Given the description of an element on the screen output the (x, y) to click on. 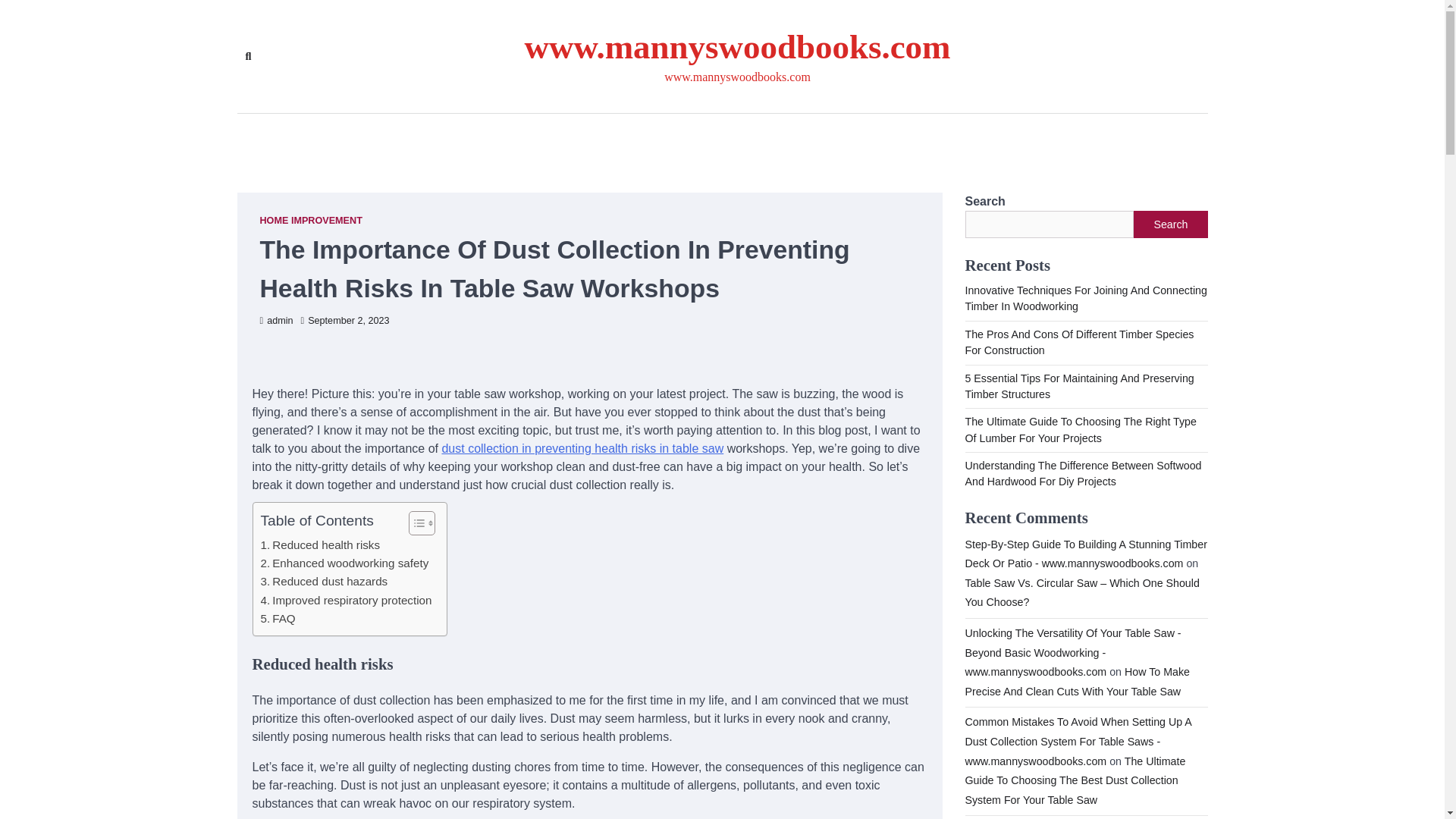
Improved respiratory protection (346, 600)
Reduced health risks (320, 545)
Search (1170, 224)
dust collection in preventing health risks in table saw (582, 448)
Reduced health risks (320, 545)
Reduced dust hazards (324, 581)
Search (247, 56)
